Given the description of an element on the screen output the (x, y) to click on. 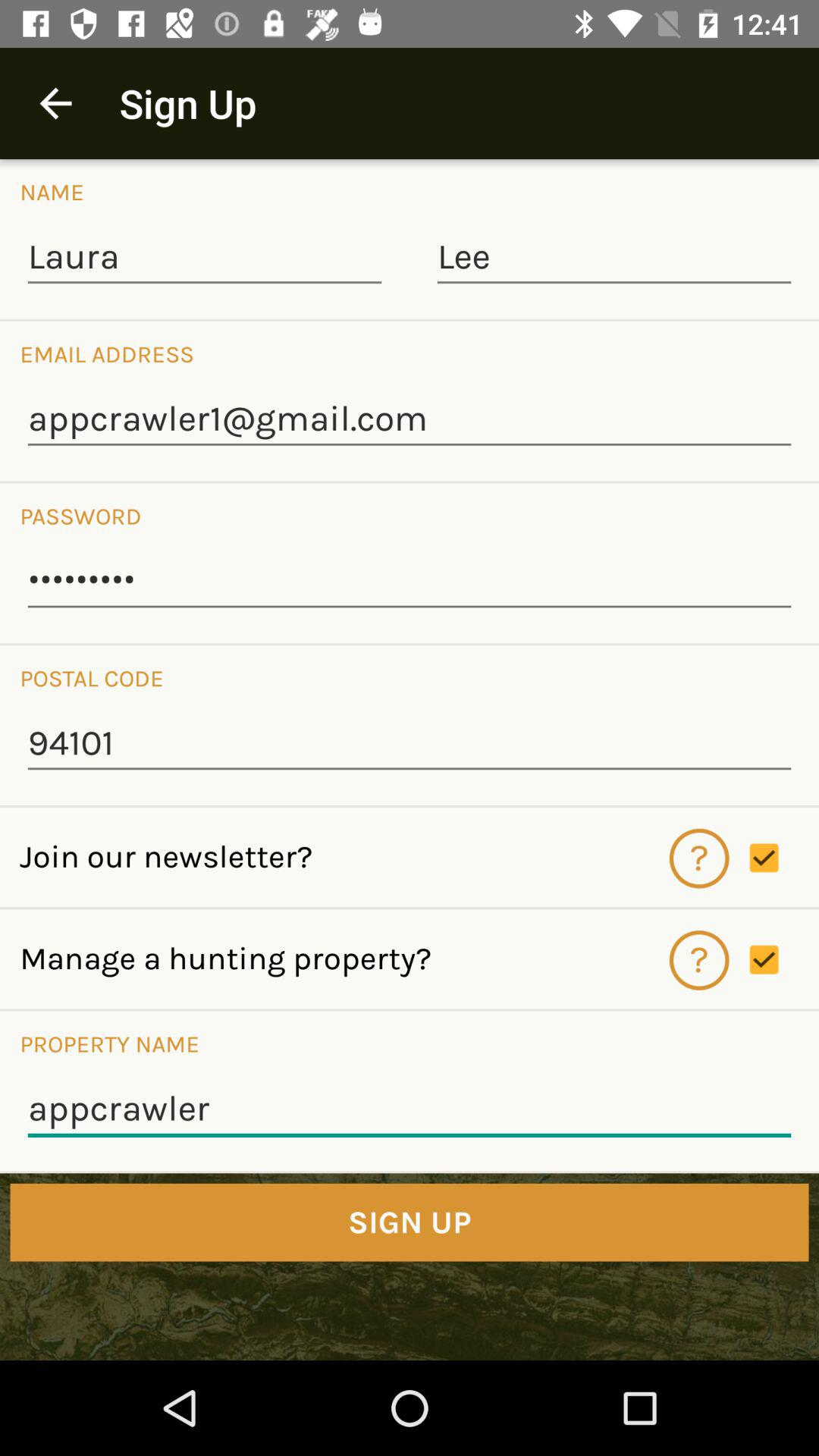
jump until appcrawler (409, 1109)
